Given the description of an element on the screen output the (x, y) to click on. 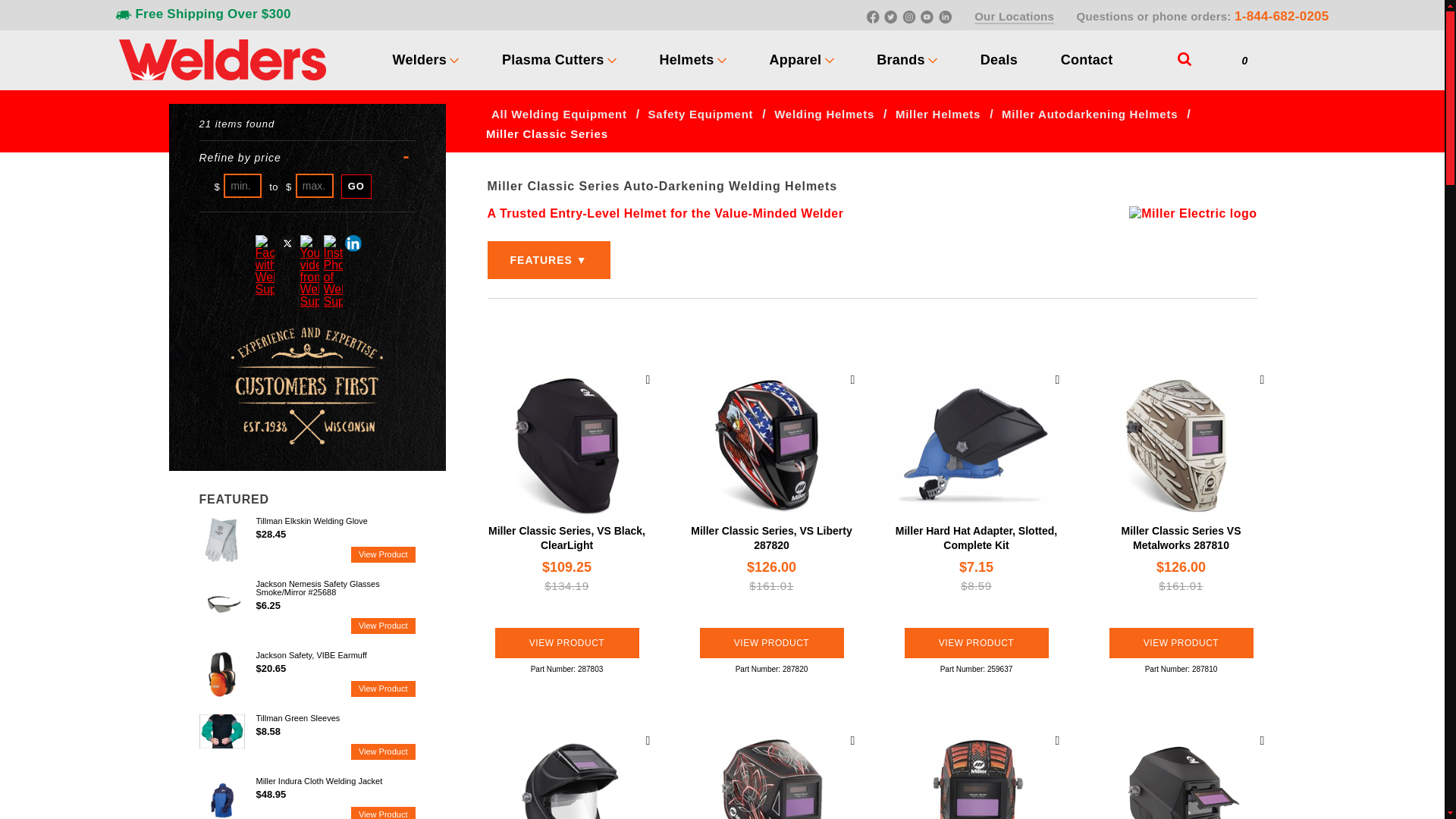
The worlds best plasma prices at the lowest prices (553, 59)
Welders (419, 59)
Questions or phone orders: 1-844-682-0205 (1203, 15)
Our Locations (1014, 16)
We Are Welders (221, 58)
Plasma Cutters (553, 59)
Helmets (686, 59)
